Given the description of an element on the screen output the (x, y) to click on. 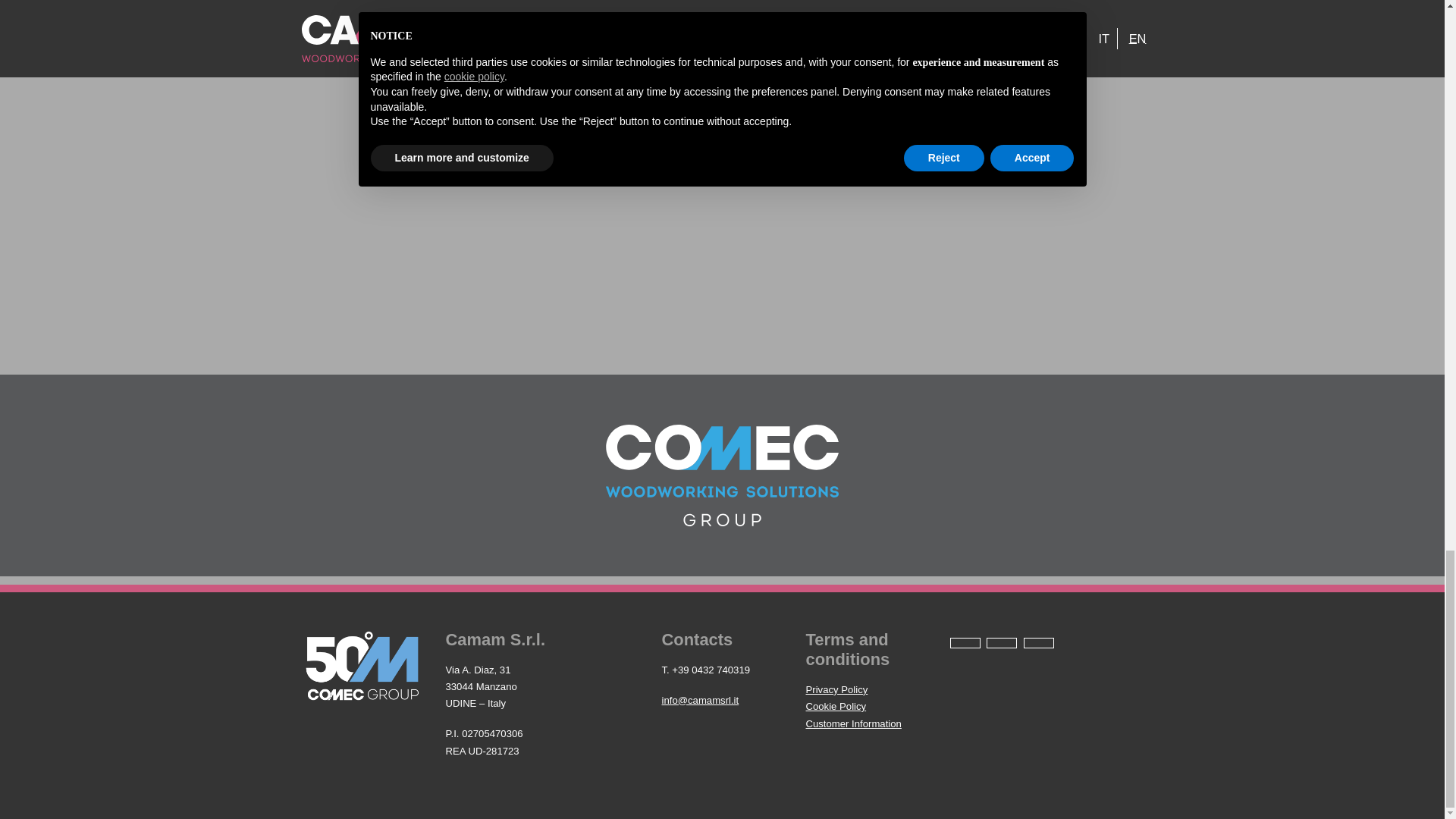
Privacy Policy  (836, 689)
Customer Information (853, 723)
Privacy Policy (836, 689)
Cookie Policy (835, 706)
Cookie Policy  (835, 706)
CAMAM (721, 474)
Submit (1098, 17)
